Given the description of an element on the screen output the (x, y) to click on. 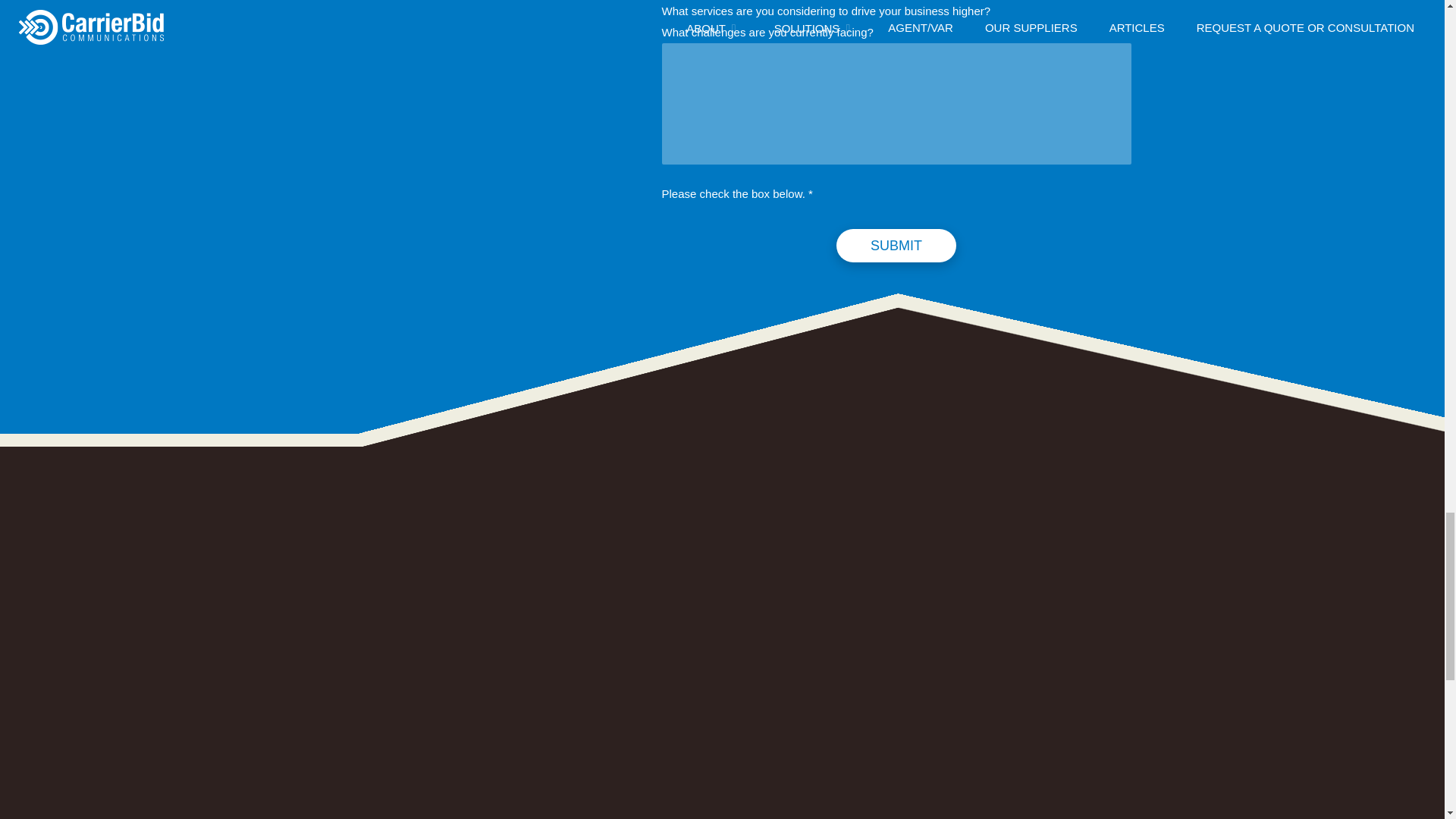
Submit (895, 245)
